Given the description of an element on the screen output the (x, y) to click on. 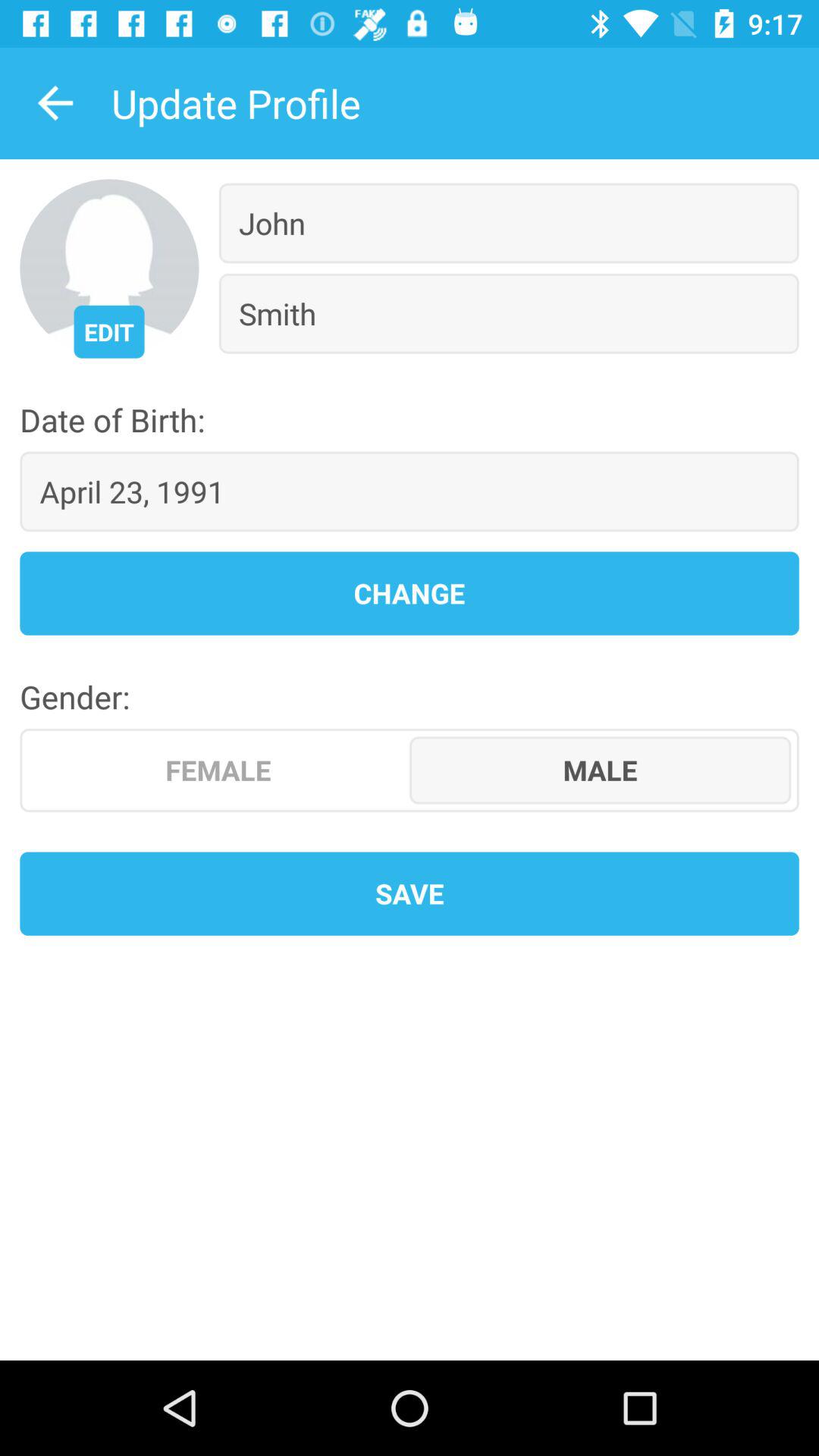
turn on the item next to the smith item (108, 331)
